Given the description of an element on the screen output the (x, y) to click on. 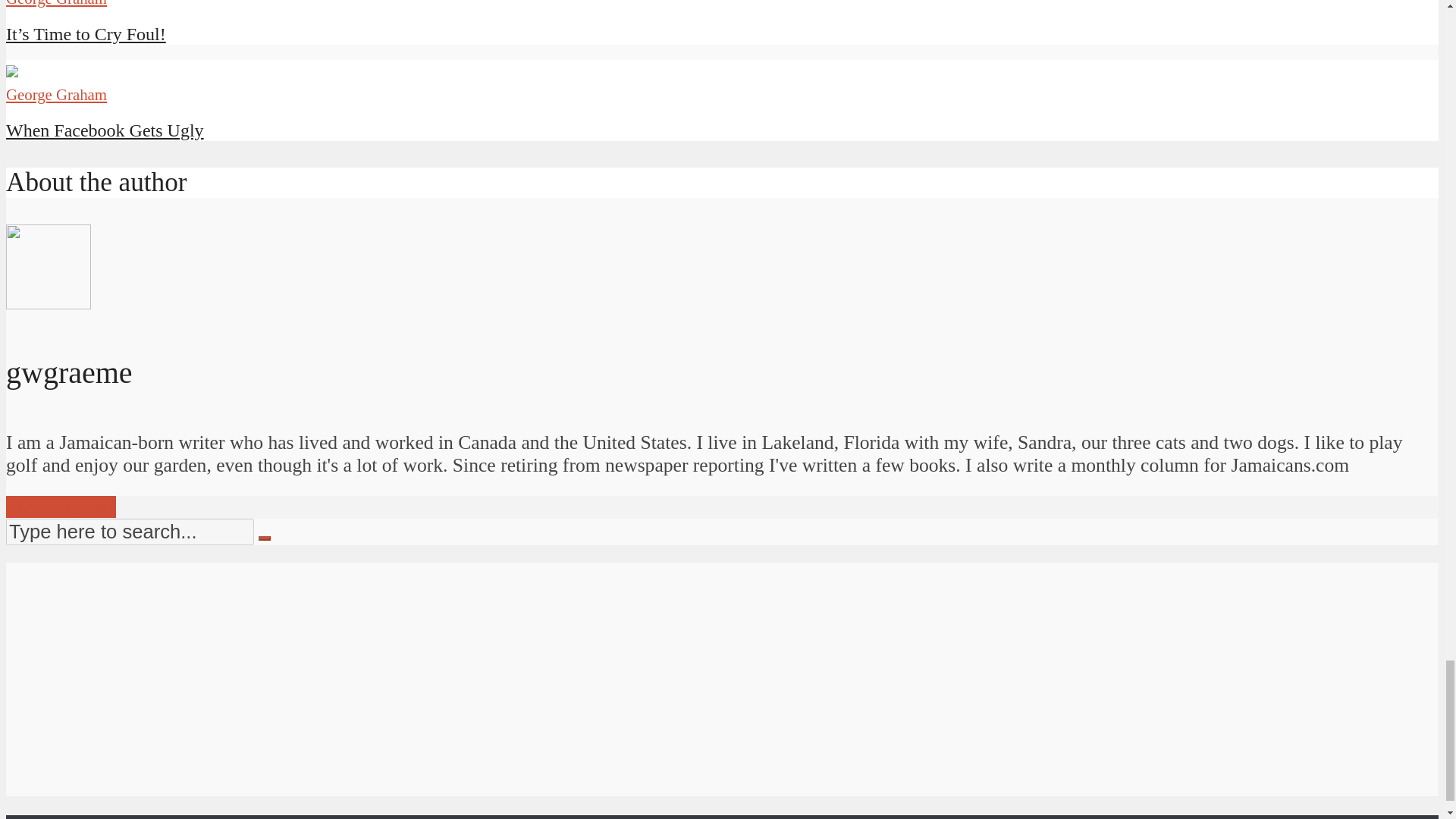
When Facebook Gets Ugly (104, 130)
Type here to search... (129, 531)
When Facebook Gets Ugly (11, 70)
Type here to search... (129, 531)
